Given the description of an element on the screen output the (x, y) to click on. 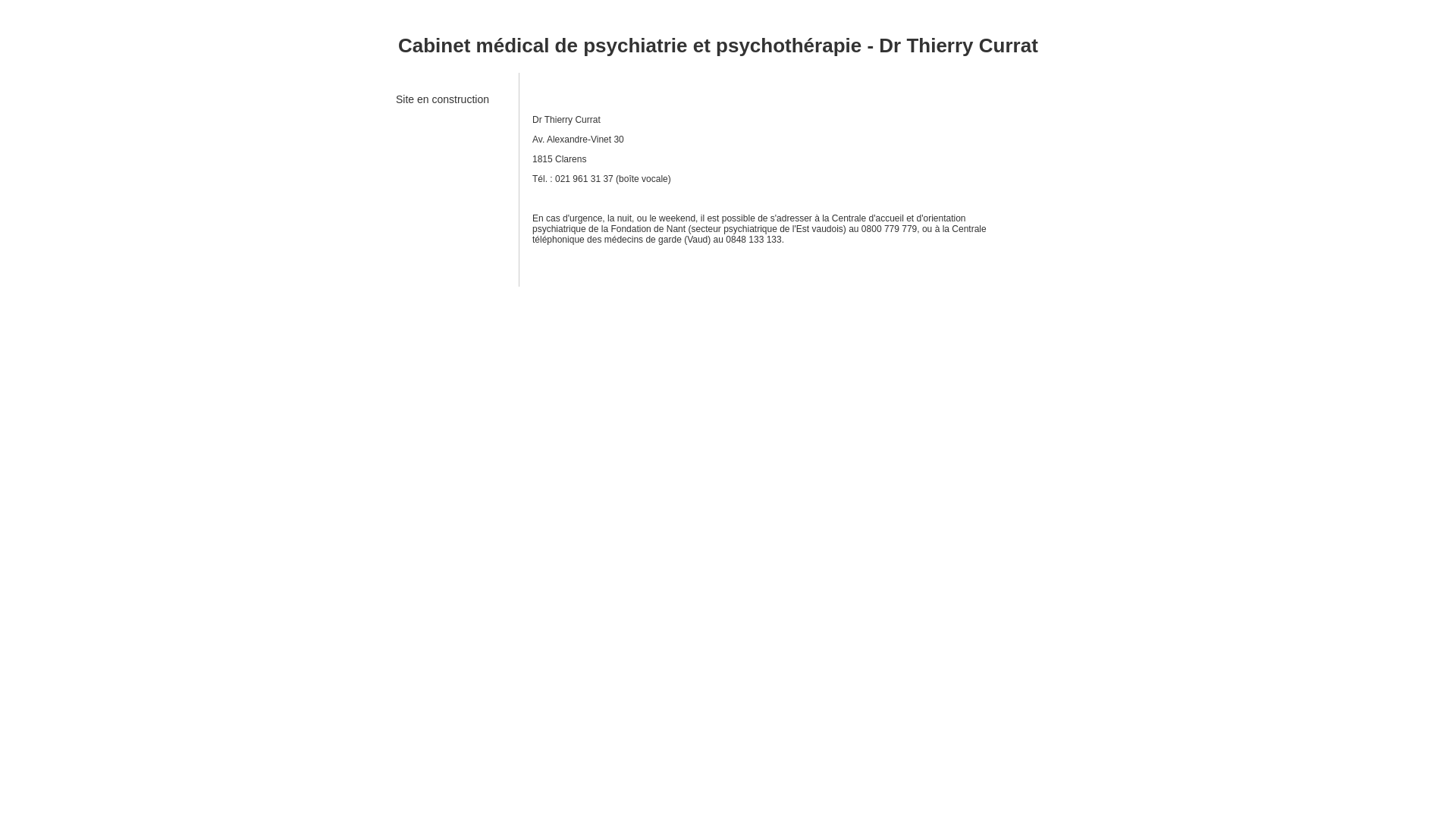
Site en construction Element type: text (442, 104)
